Given the description of an element on the screen output the (x, y) to click on. 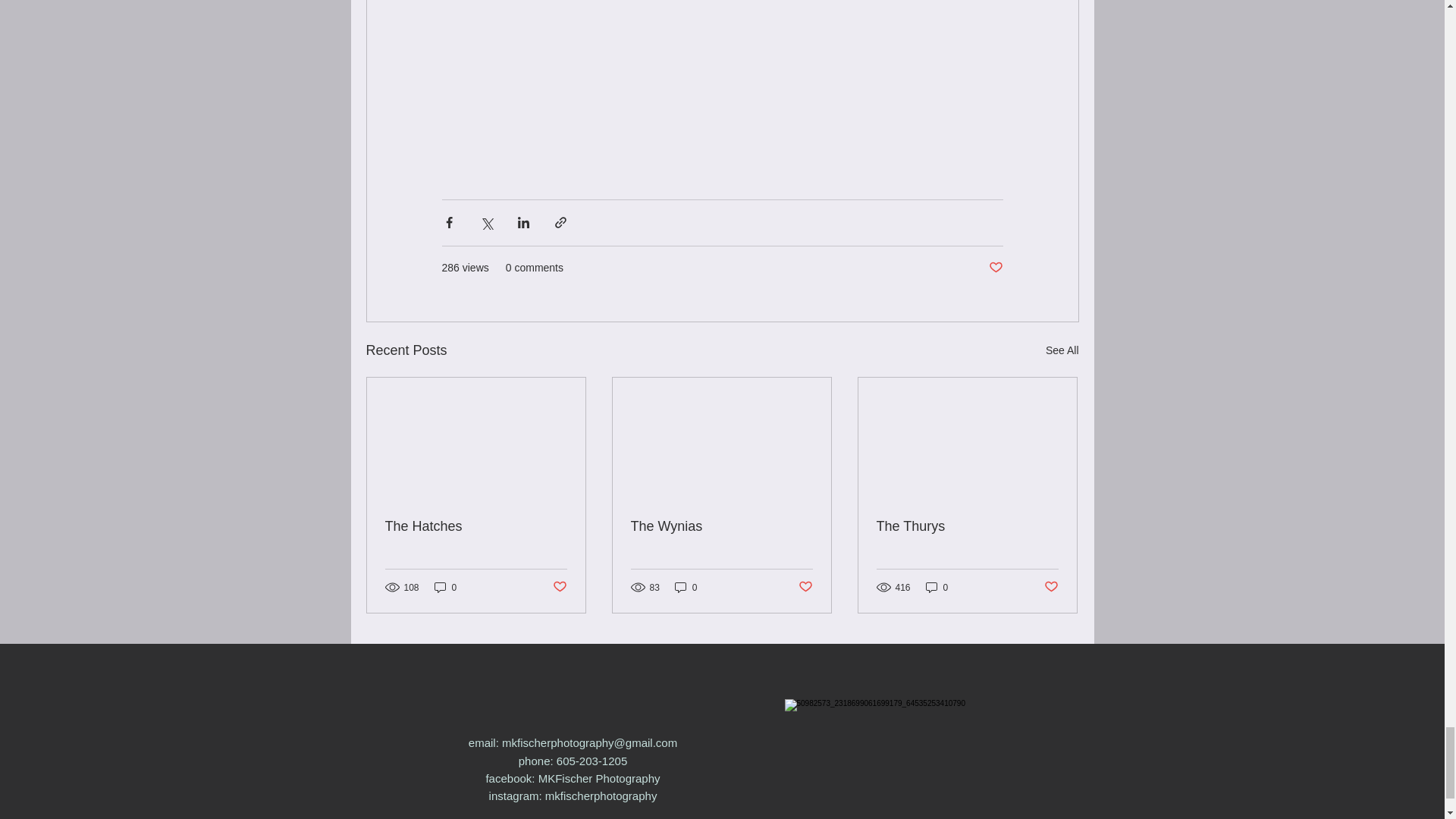
Post not marked as liked (1050, 587)
Post not marked as liked (804, 587)
Post not marked as liked (995, 268)
0 (685, 586)
See All (1061, 350)
The Wynias (721, 526)
The Thurys (967, 526)
0 (445, 586)
0 (937, 586)
The Hatches (476, 526)
